Given the description of an element on the screen output the (x, y) to click on. 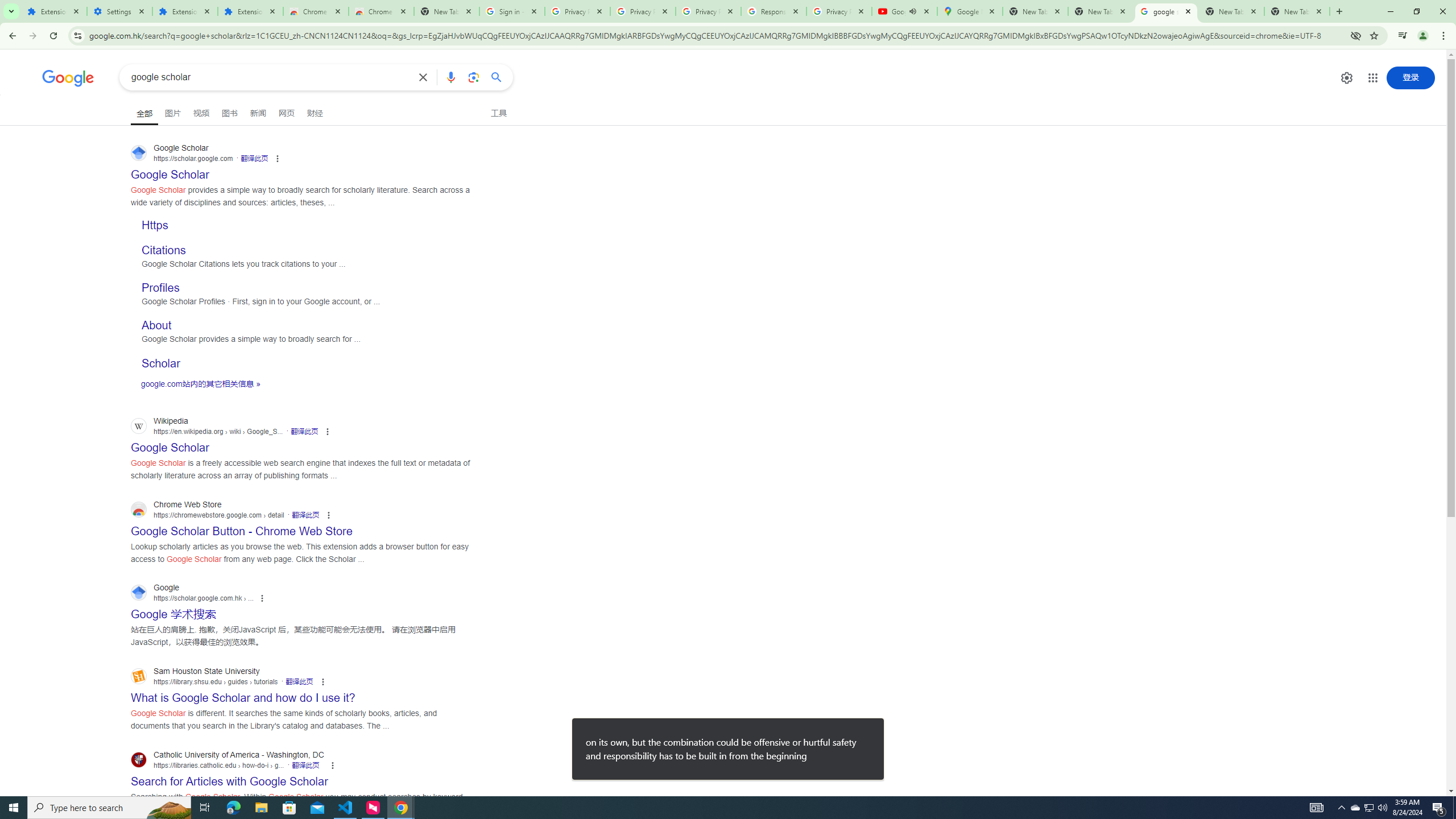
Google Maps (969, 11)
Chrome Web Store - Themes (381, 11)
